Given the description of an element on the screen output the (x, y) to click on. 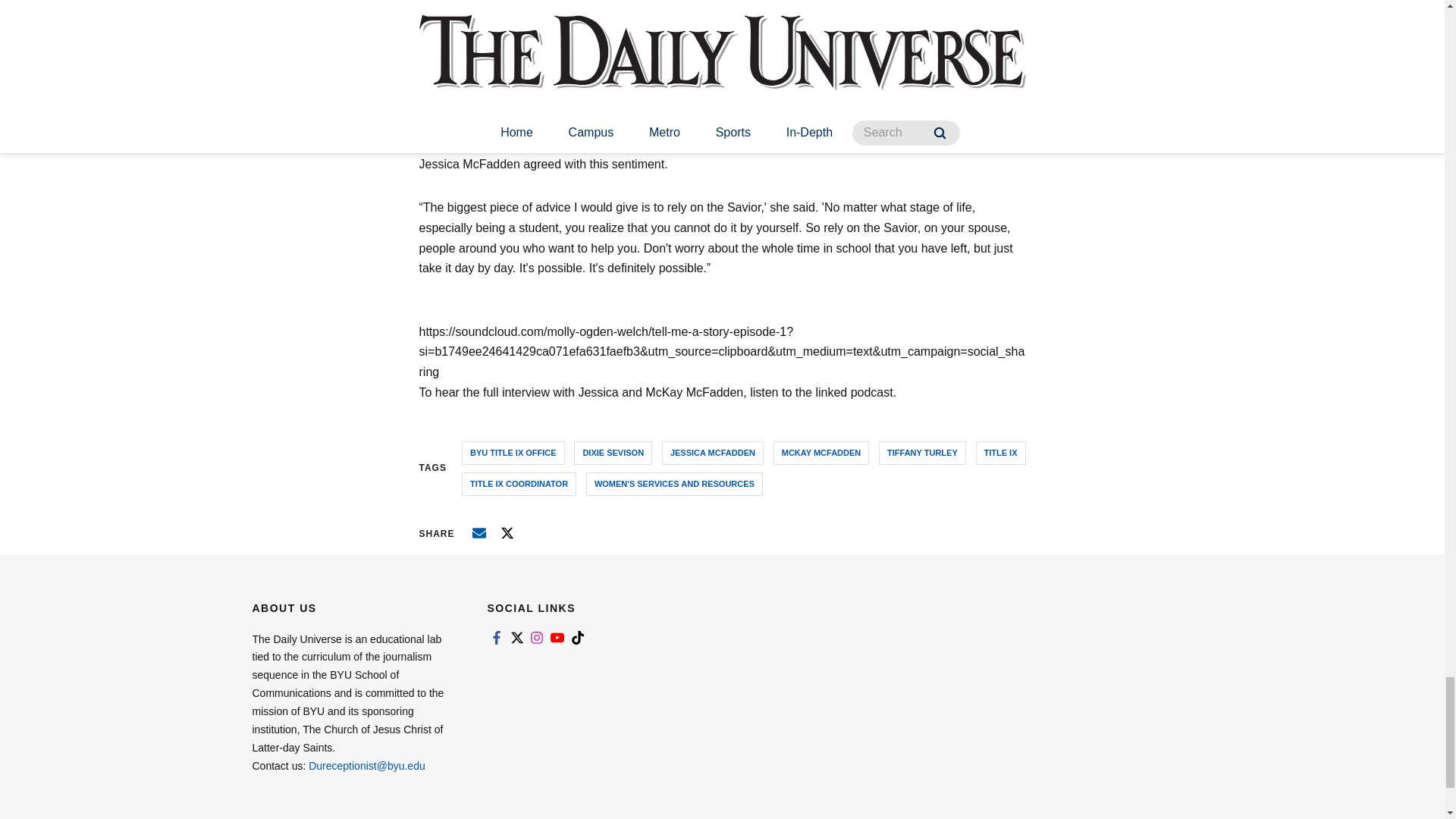
Link to youtube (557, 637)
TITLE IX (1000, 453)
JESSICA MCFADDEN (712, 453)
Link to instagram (536, 637)
DIXIE SEVISON (612, 453)
MCKAY MCFADDEN (821, 453)
Link to facebook (495, 637)
WOMEN'S SERVICES AND RESOURCES (674, 484)
Link to twitter (515, 637)
TIFFANY TURLEY (922, 453)
